Given the description of an element on the screen output the (x, y) to click on. 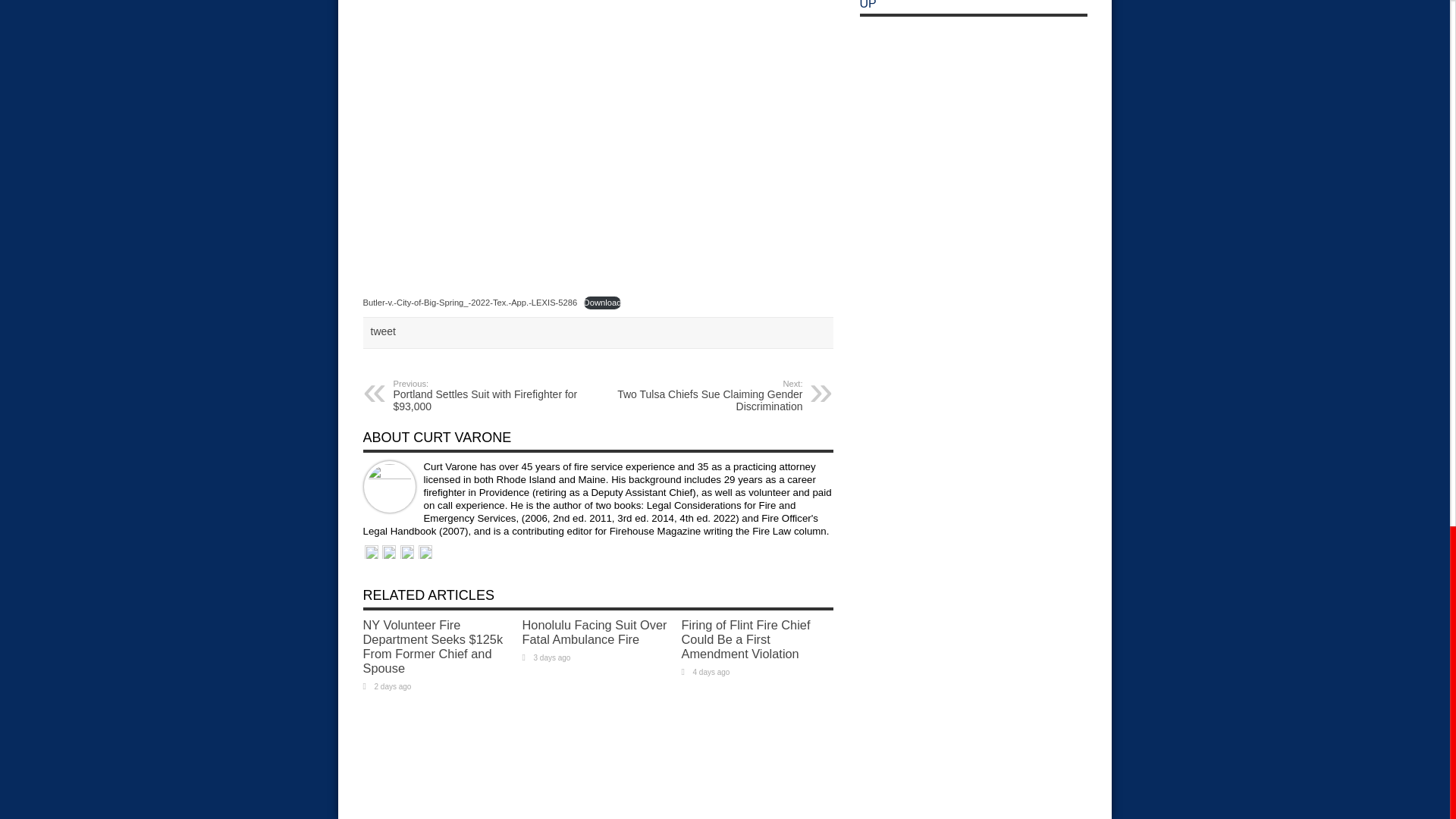
Permalink to Honolulu Facing Suit Over Fatal Ambulance Fire (593, 632)
tweet (381, 331)
Download (602, 302)
Honolulu Facing Suit Over Fatal Ambulance Fire (710, 395)
